Given the description of an element on the screen output the (x, y) to click on. 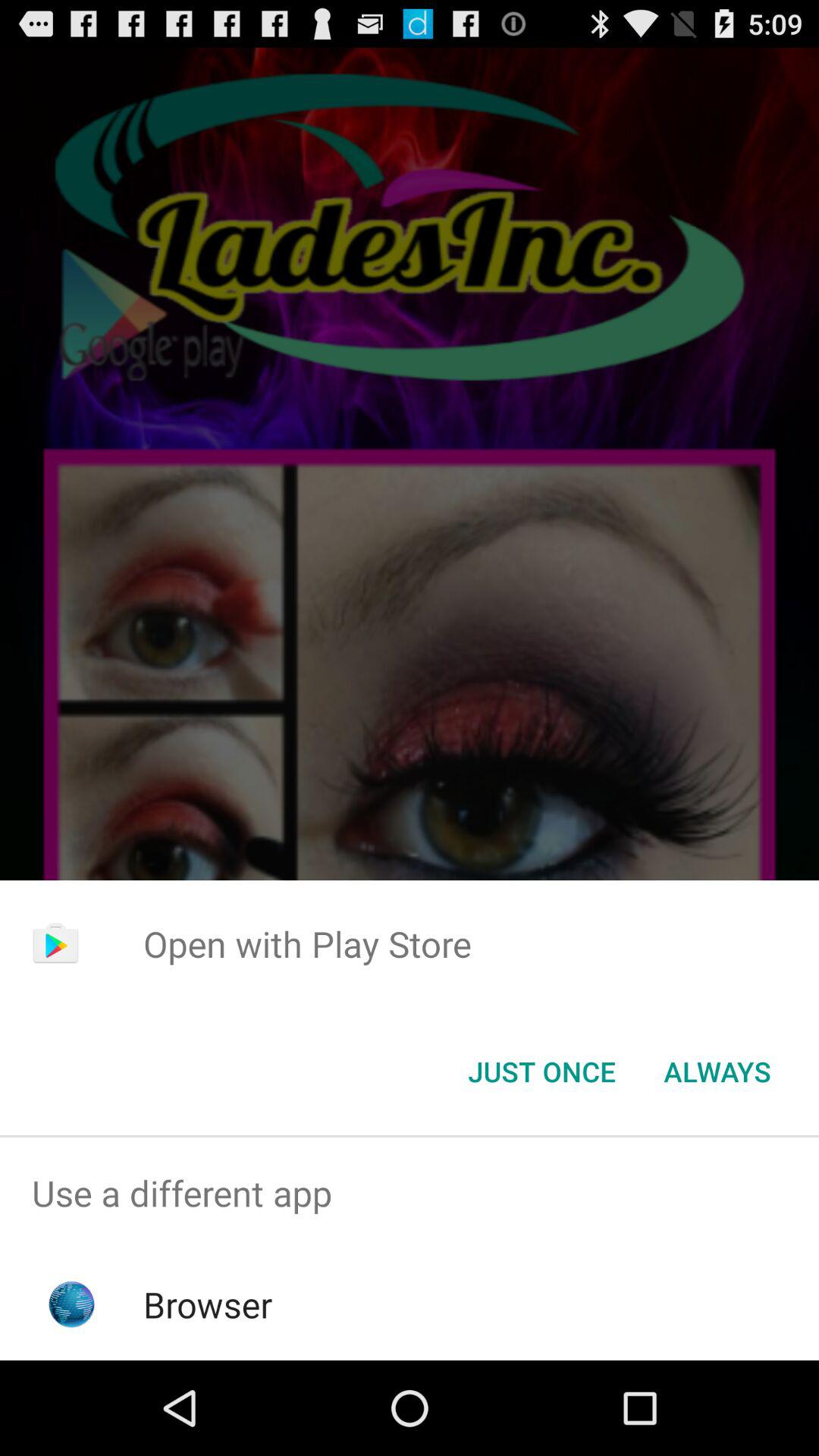
swipe to browser item (207, 1304)
